Given the description of an element on the screen output the (x, y) to click on. 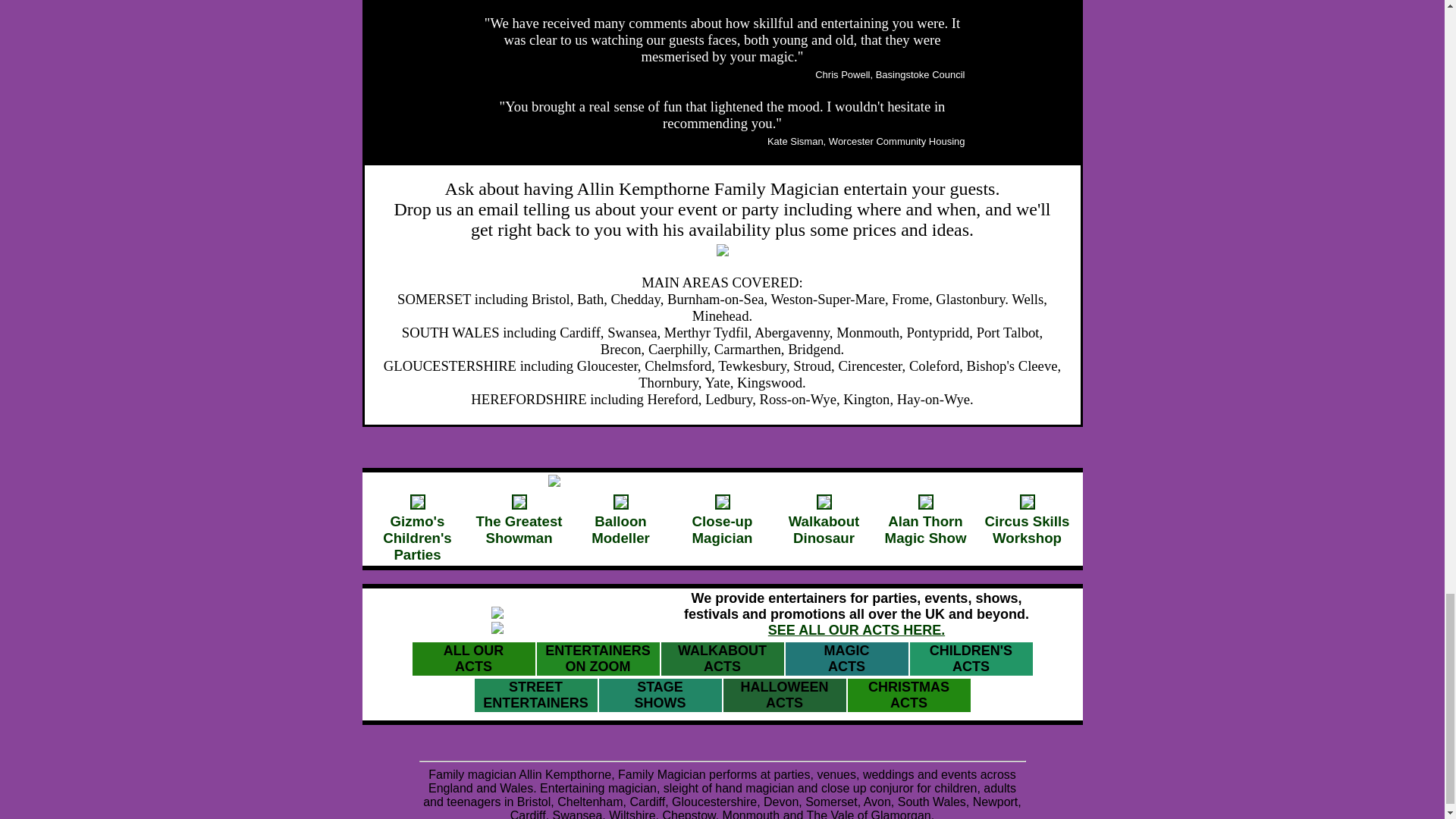
Circus Skills Workshop (1026, 521)
Close-up Magician (908, 694)
The Greatest Showman (722, 521)
Walkabout Dinosaur (519, 521)
Balloon Modeller (824, 521)
SEE ALL OUR ACTS HERE. (722, 658)
